Given the description of an element on the screen output the (x, y) to click on. 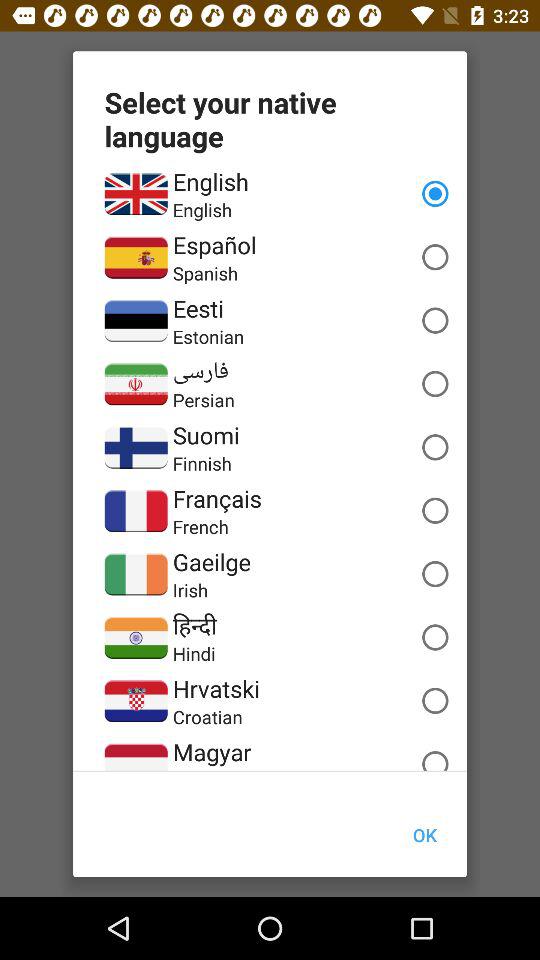
flip until finnish app (201, 463)
